Given the description of an element on the screen output the (x, y) to click on. 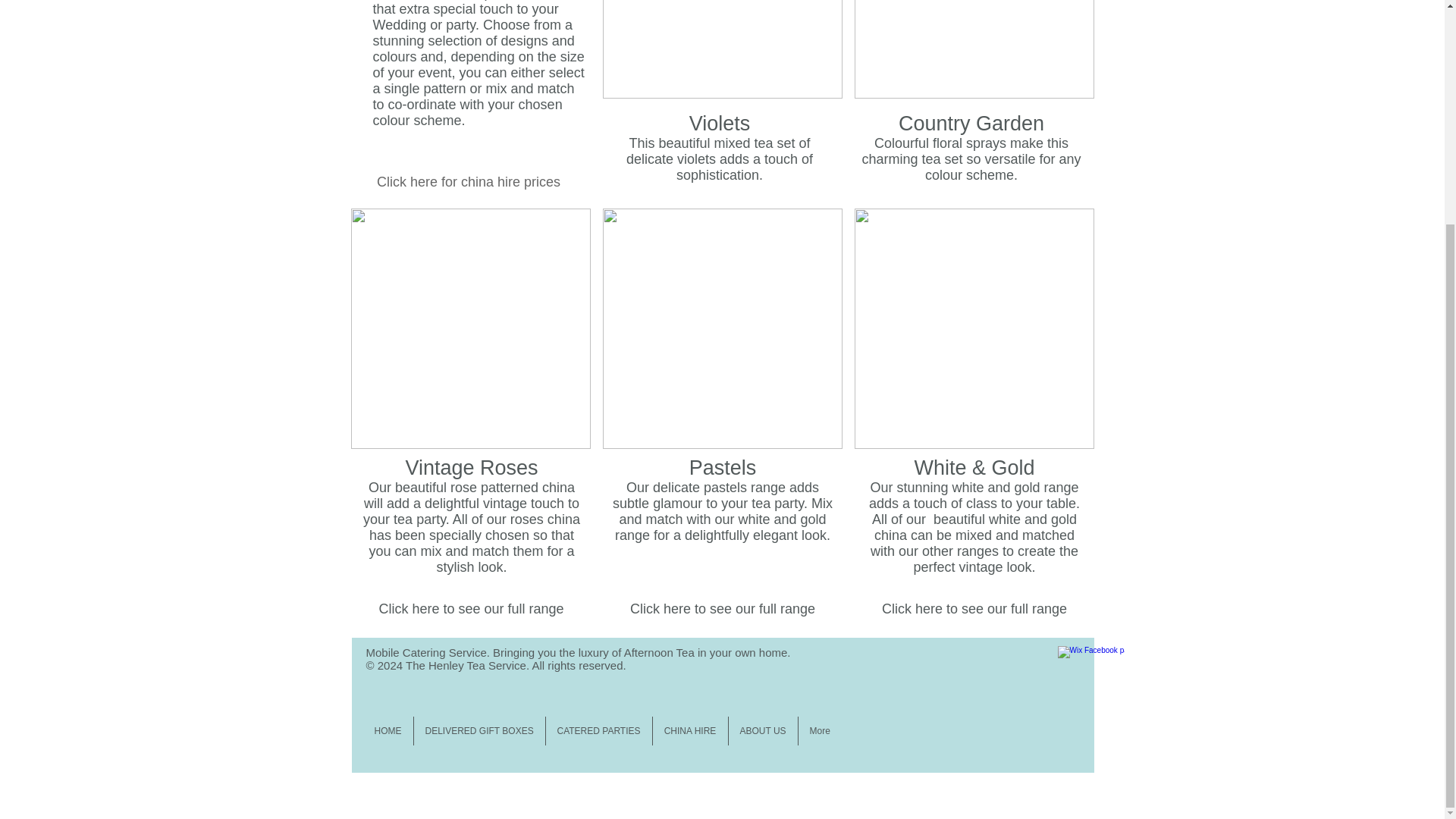
pastels mixed 3.jpg (721, 328)
roses mixed 3.jpg (469, 328)
Click here to see our full range (974, 609)
HOME (387, 730)
Click here to see our full range (722, 609)
gold mixed 2.jpg (973, 328)
Click here for china hire prices (468, 181)
Click here to see our full range (470, 609)
